Given the description of an element on the screen output the (x, y) to click on. 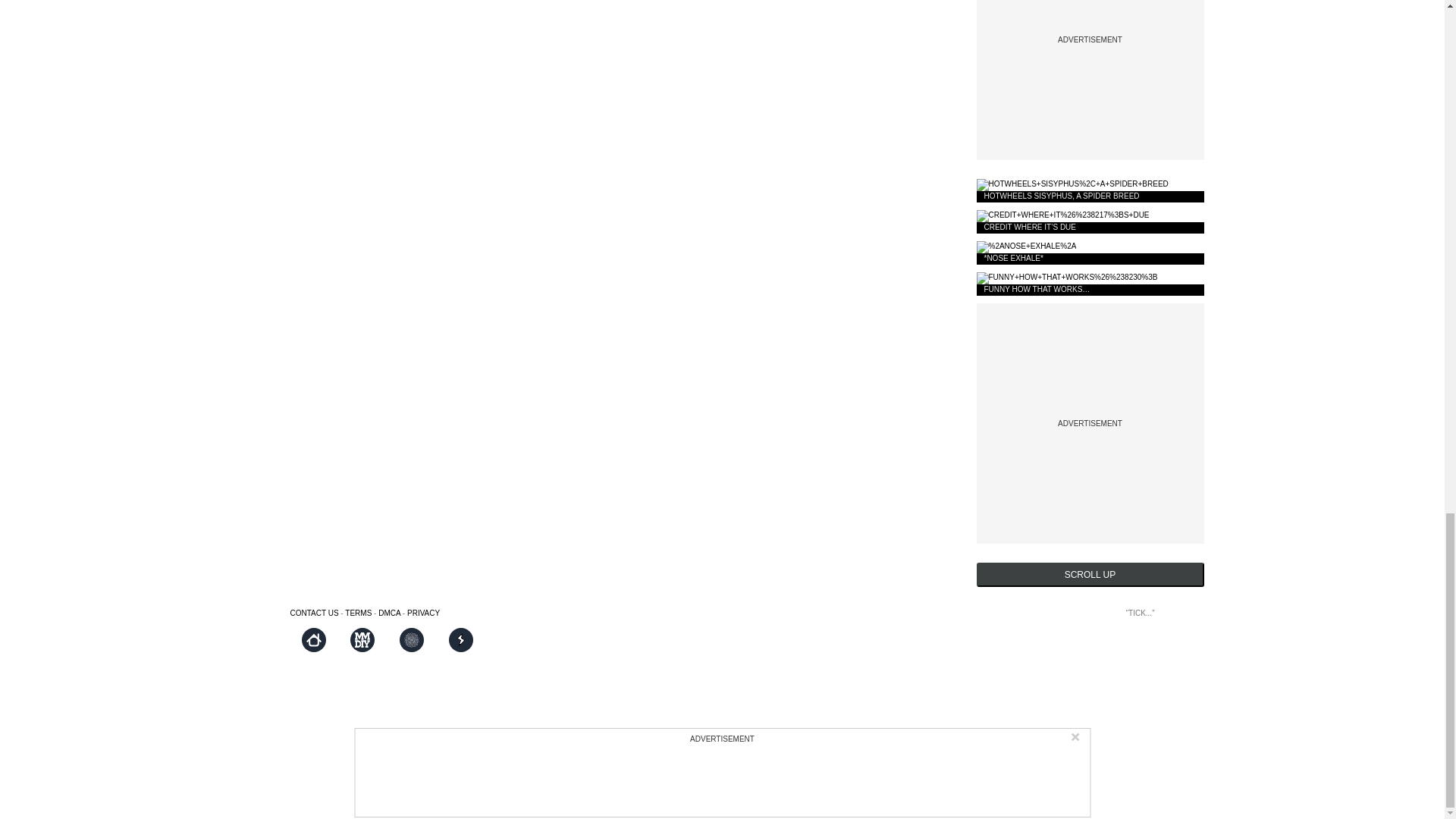
Decoist (312, 639)
Slow Robot (461, 639)
Higher Perspectives (411, 639)
SCROLL UP (1090, 574)
SCROLL UP (1090, 574)
ManMadeDIY (362, 639)
